Given the description of an element on the screen output the (x, y) to click on. 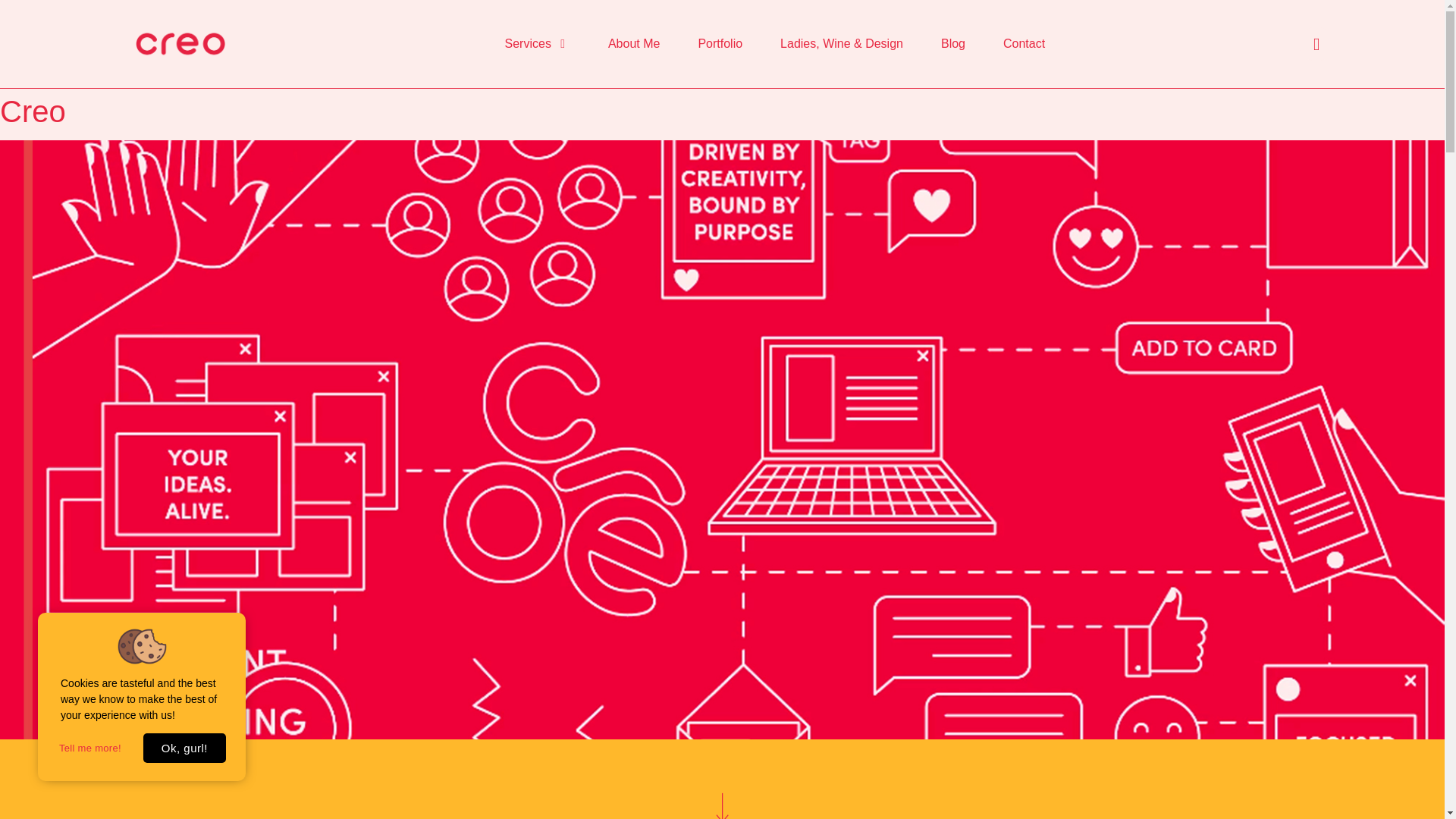
About Me (633, 44)
Blog (952, 44)
Services (530, 44)
Contact (1024, 44)
Portfolio (719, 44)
